Given the description of an element on the screen output the (x, y) to click on. 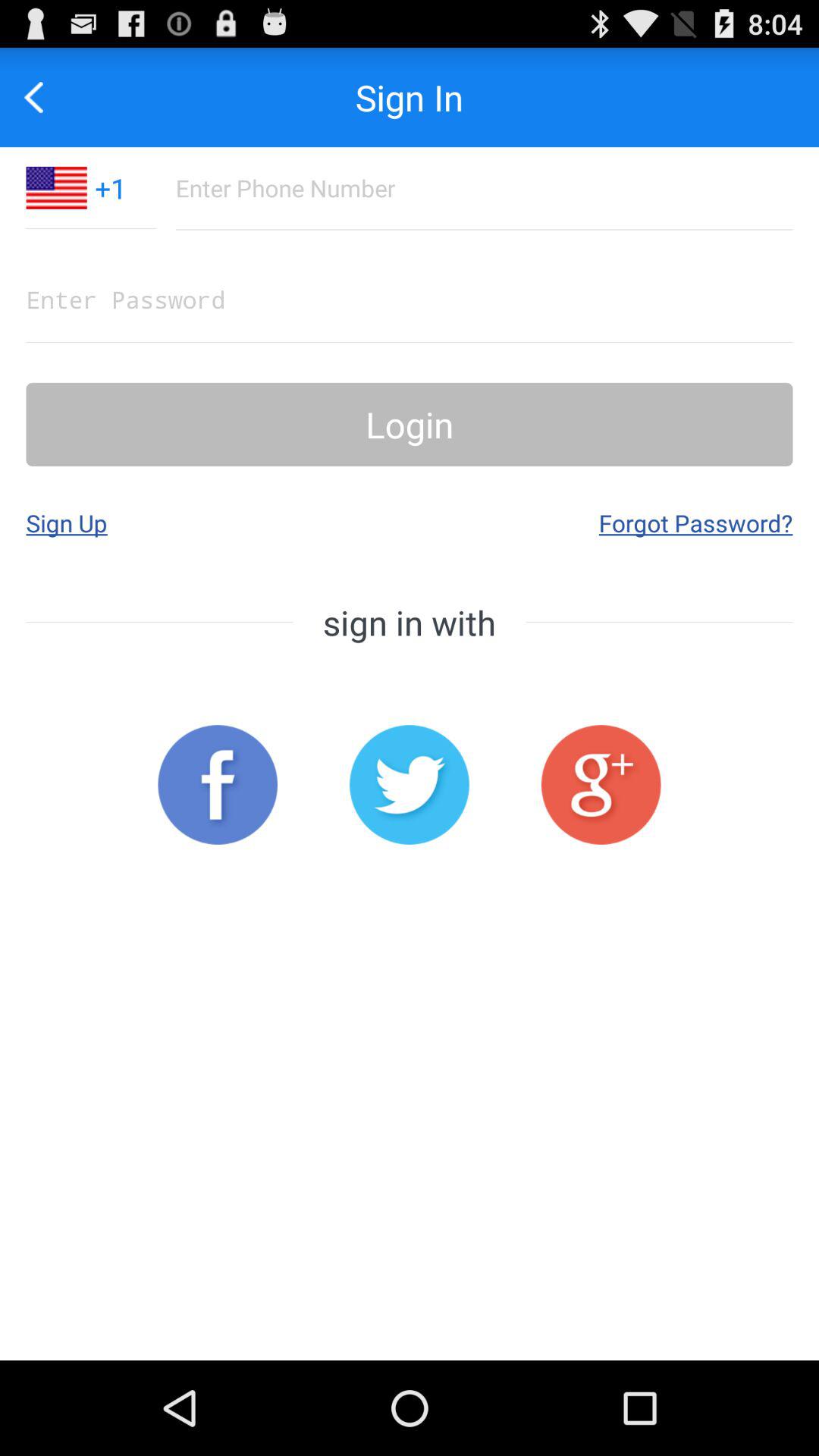
open the item to the left of the +1 item (56, 187)
